Given the description of an element on the screen output the (x, y) to click on. 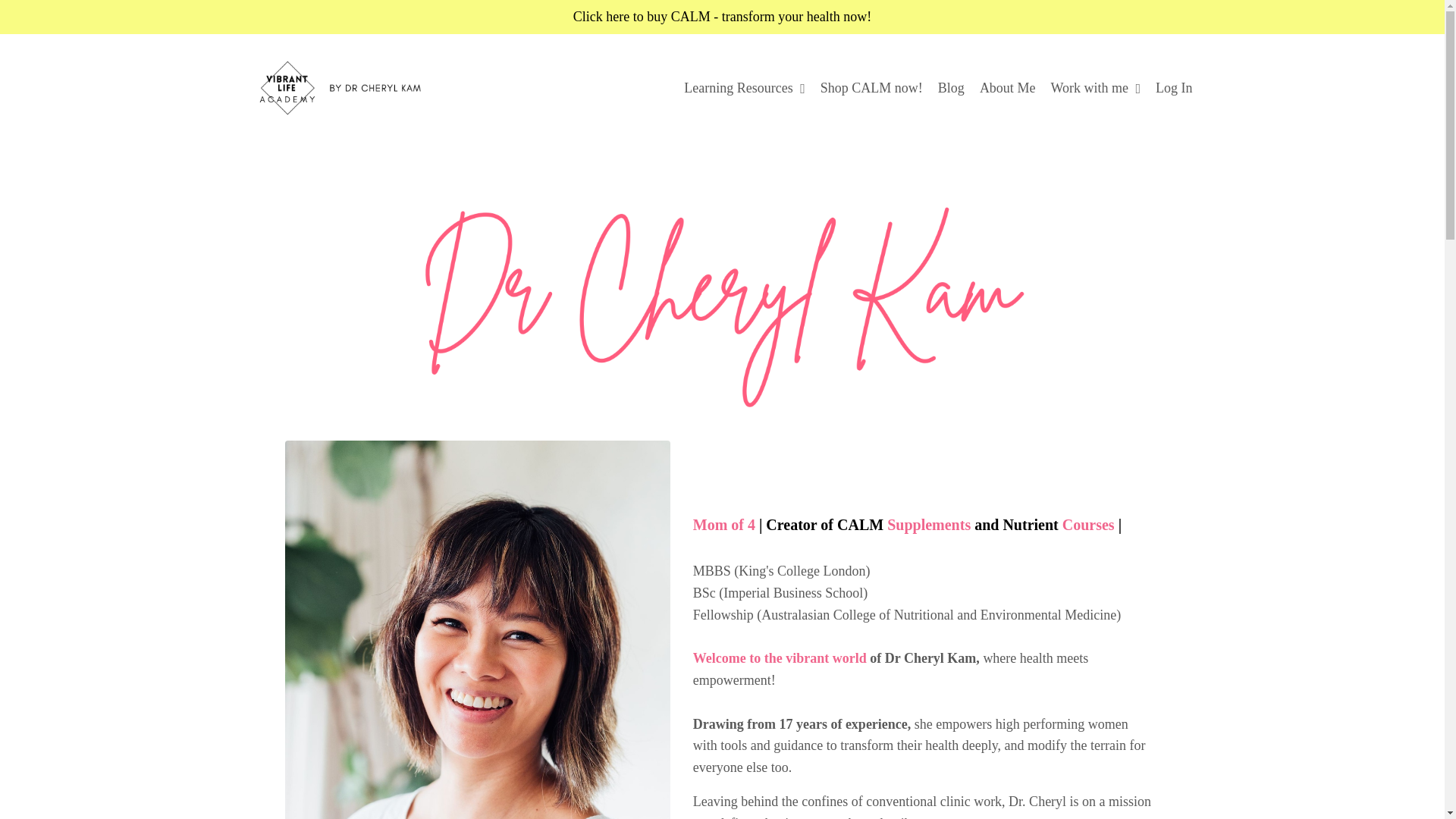
Blog (950, 87)
Work with me (1094, 87)
Learning Resources (744, 87)
About Me (1007, 87)
Log In (1174, 87)
Shop CALM now! (872, 87)
